Given the description of an element on the screen output the (x, y) to click on. 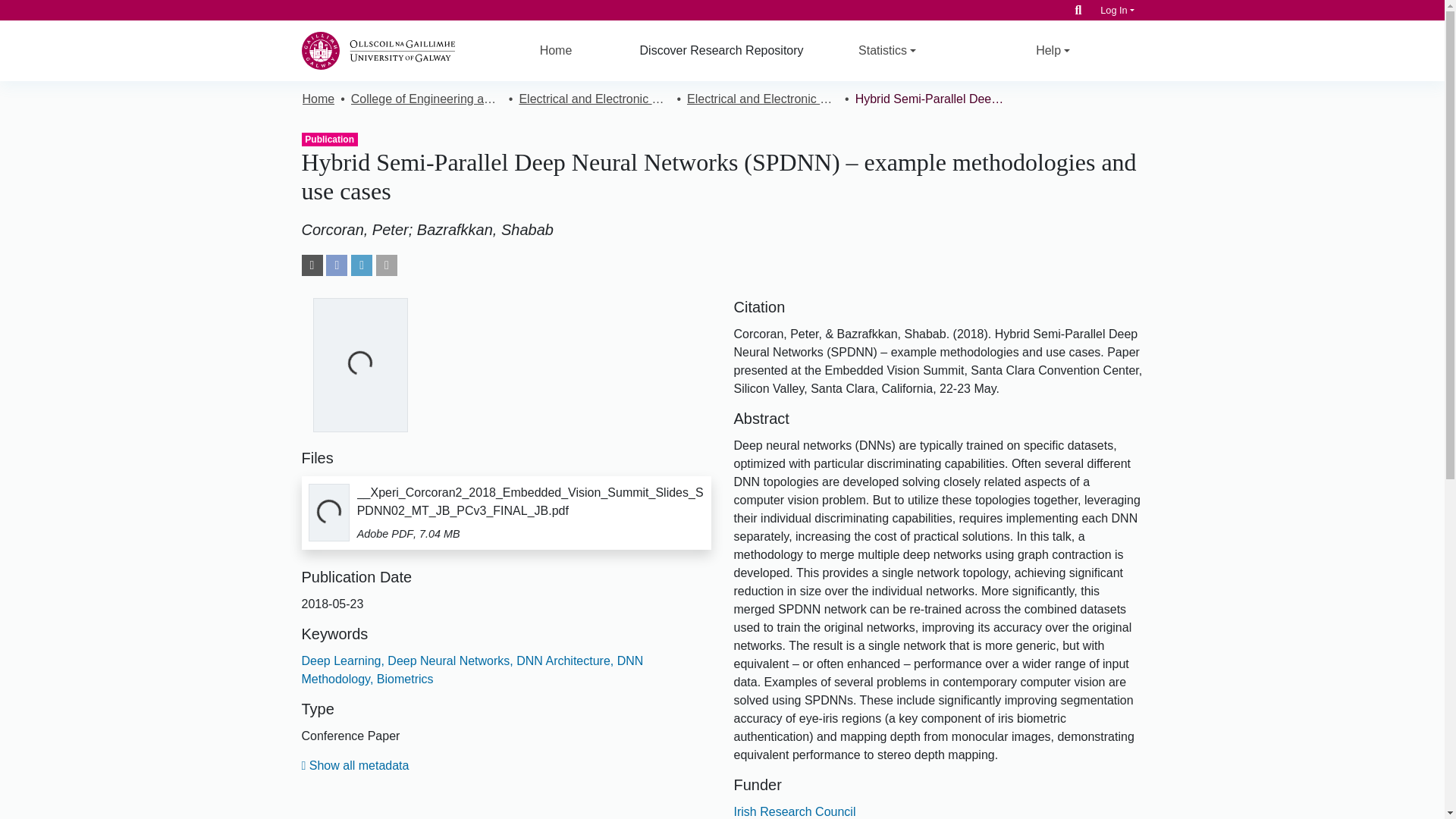
Deep Learning, (342, 660)
DNN Architecture, (563, 660)
Log In (1117, 9)
Home (556, 50)
Biometrics (402, 678)
Help (1052, 50)
Home (317, 99)
Electrical and Electronic Engineering (593, 99)
DNN Methodology, (472, 669)
Search (1078, 10)
Statistics (888, 50)
Home (556, 50)
Show all metadata (355, 765)
Irish Research Council (794, 811)
College of Engineering and Informatics (426, 99)
